Given the description of an element on the screen output the (x, y) to click on. 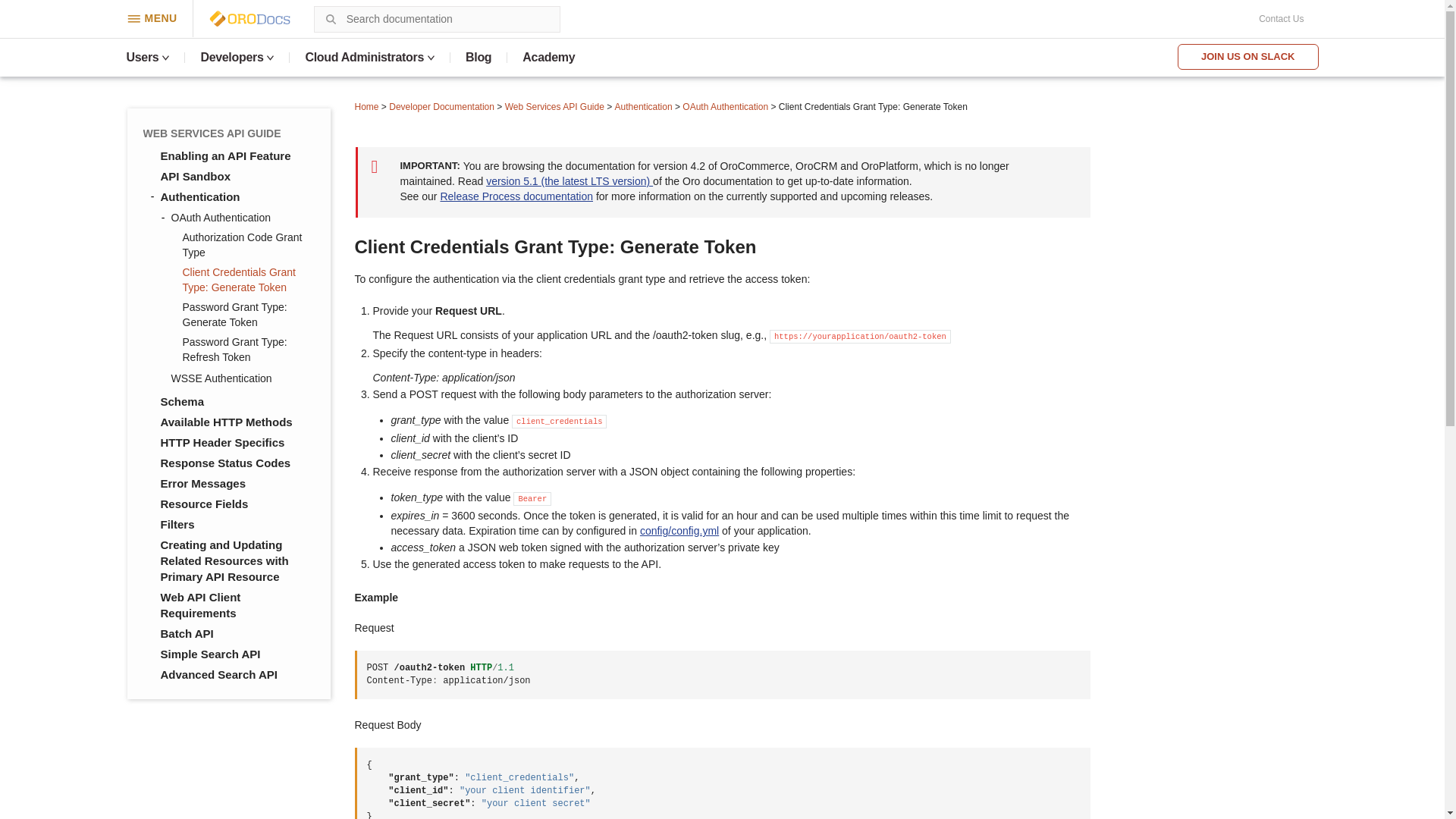
Oro Inc. (232, 18)
Search the site (330, 18)
Contact Us (1281, 18)
OroDocumentation (273, 18)
Search the site (330, 18)
Contact Us (1281, 18)
